Given the description of an element on the screen output the (x, y) to click on. 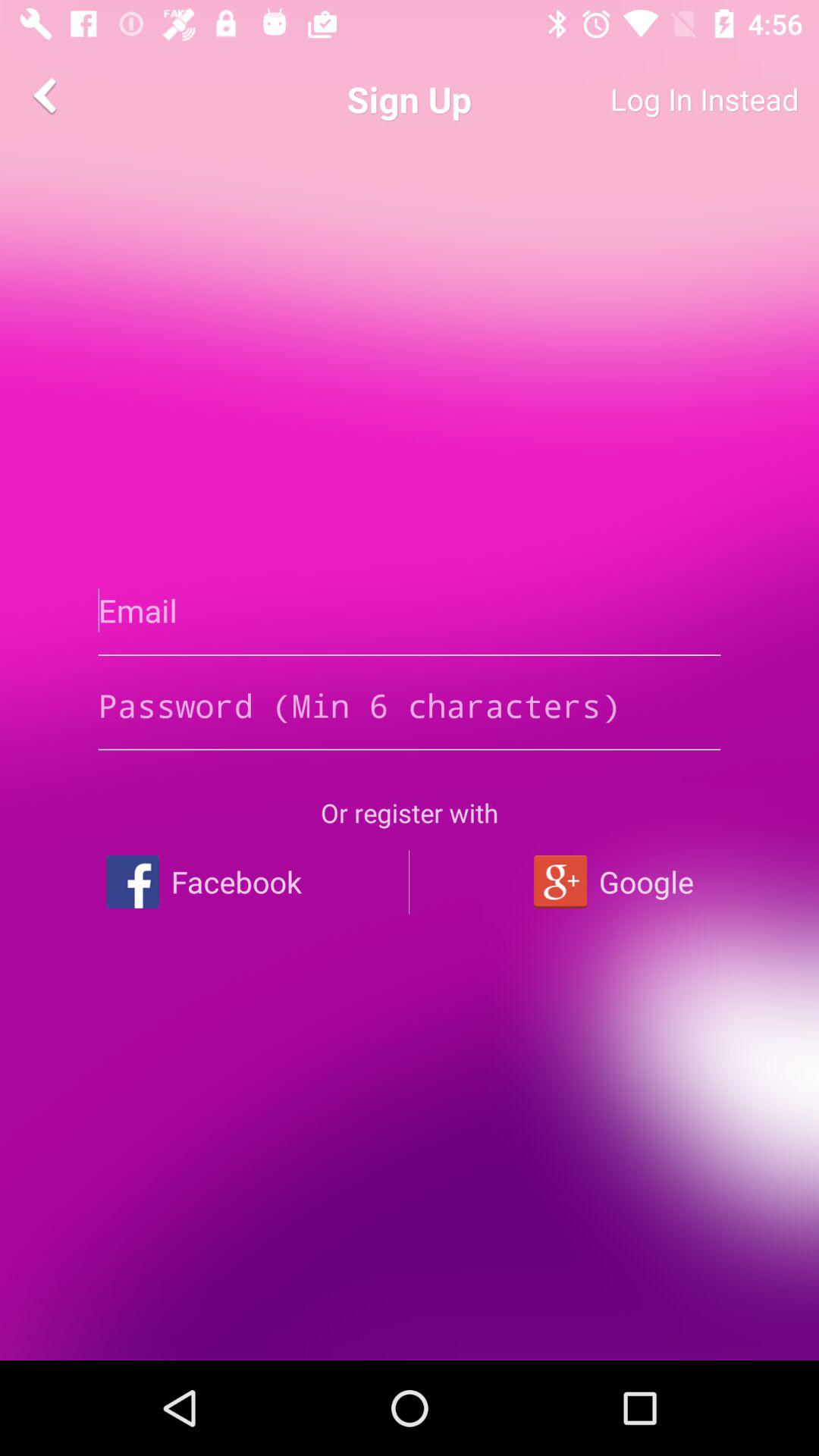
choose item next to the sign up (47, 95)
